Given the description of an element on the screen output the (x, y) to click on. 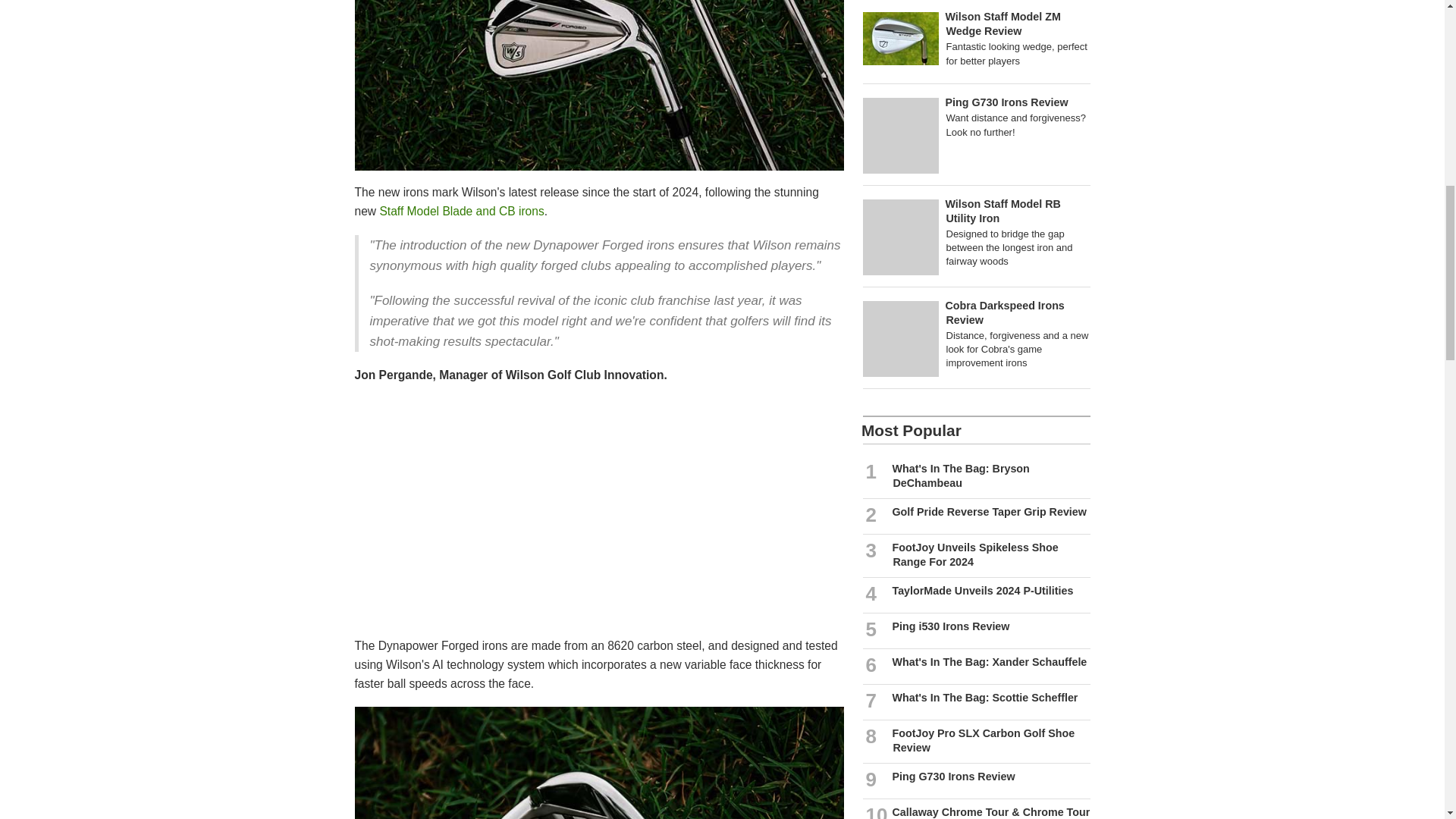
Staff Model Blade and CB irons (460, 210)
YouTube video player (566, 517)
